Given the description of an element on the screen output the (x, y) to click on. 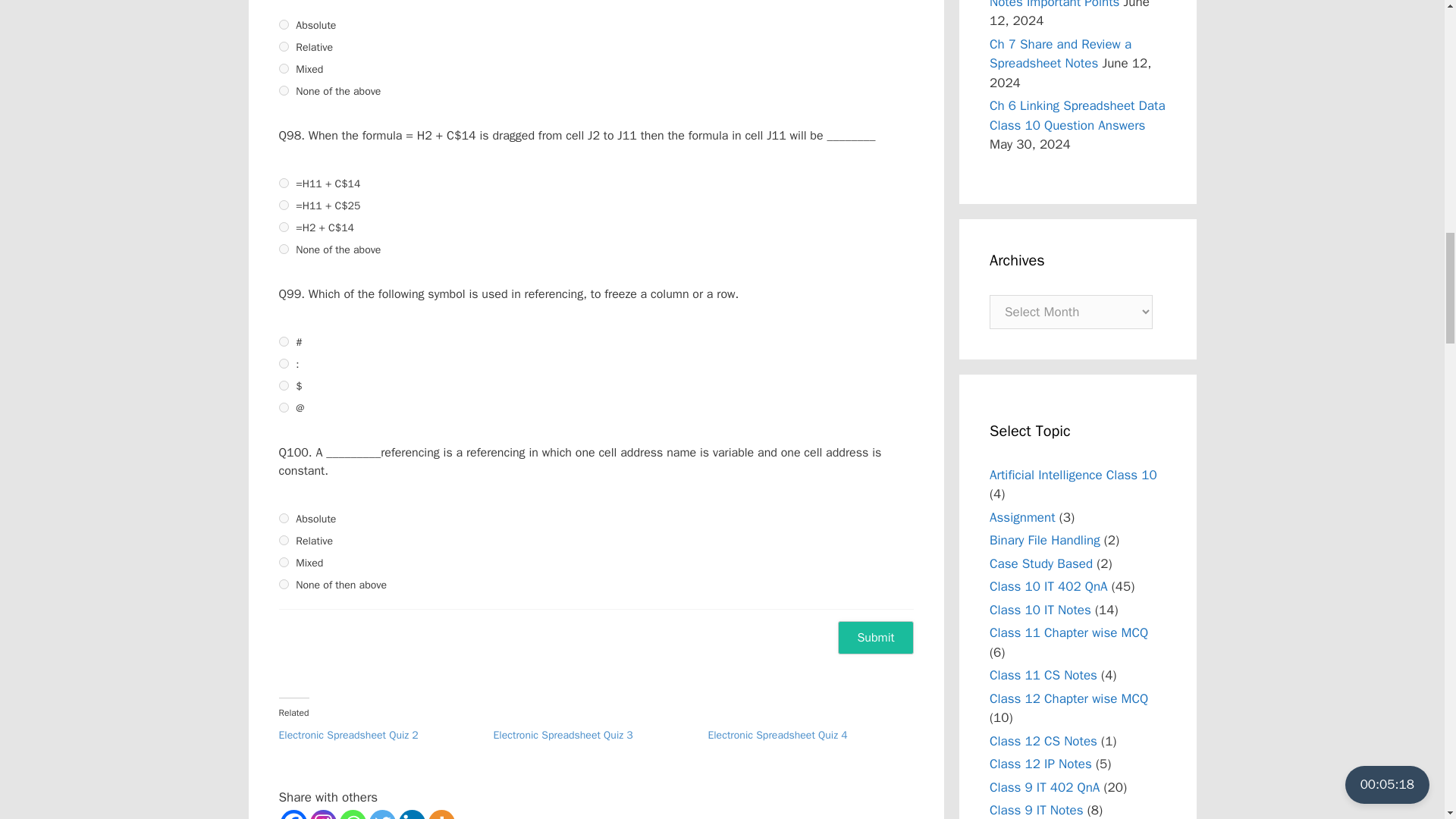
Instagram (322, 814)
Electronic Spreadsheet Quiz 2 (349, 735)
Electronic Spreadsheet Quiz 4 (777, 735)
Electronic Spreadsheet Quiz 4 (814, 735)
Facebook (294, 814)
Electronic Spreadsheet Quiz 3 (600, 735)
Whatsapp (352, 814)
Electronic Spreadsheet Quiz 2 (386, 735)
Electronic Spreadsheet Quiz 3 (562, 735)
